Given the description of an element on the screen output the (x, y) to click on. 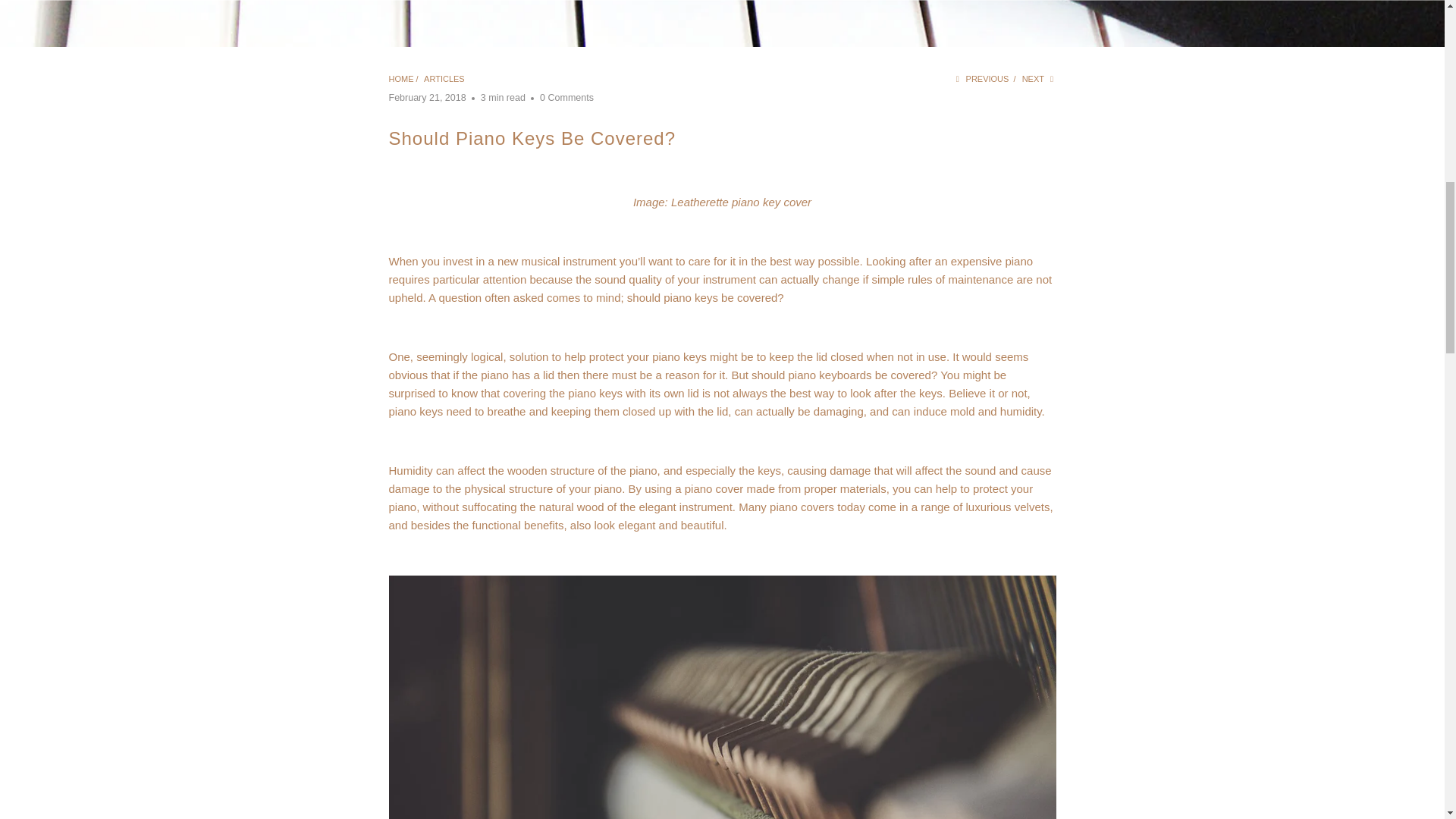
Clairevoire Piano Covers Home Page (714, 488)
Clairevoire (400, 78)
Articles (443, 78)
